Given the description of an element on the screen output the (x, y) to click on. 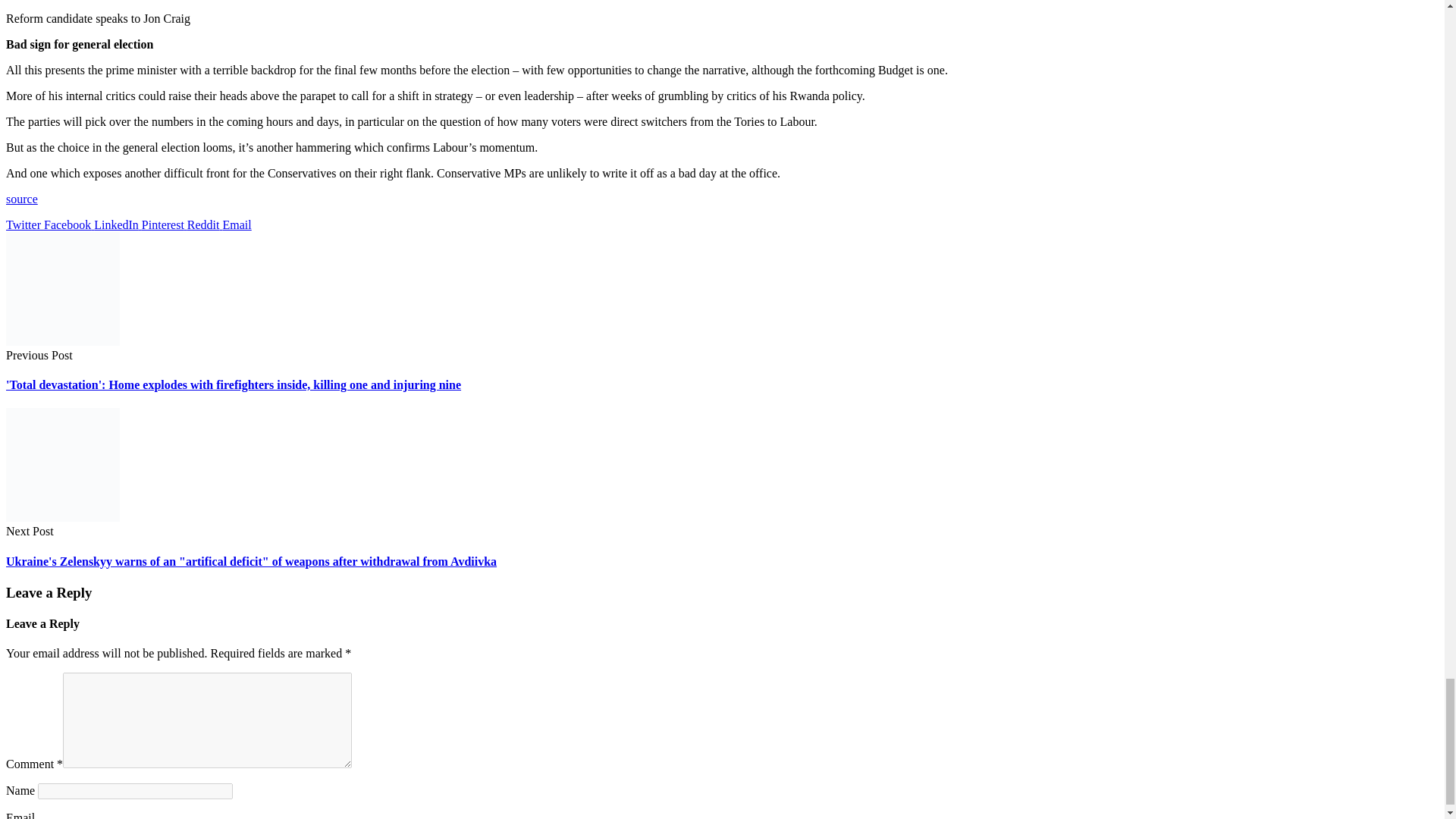
LinkedIn (117, 224)
Tweet This! (24, 224)
Facebook (68, 224)
Pinterest (164, 224)
Email (236, 224)
Share on LinkedIn (117, 224)
Twitter (24, 224)
Reddit (204, 224)
Share on Email (236, 224)
Pin this! (164, 224)
Share on Facebook (68, 224)
Share on Reddit (204, 224)
source (21, 198)
